Given the description of an element on the screen output the (x, y) to click on. 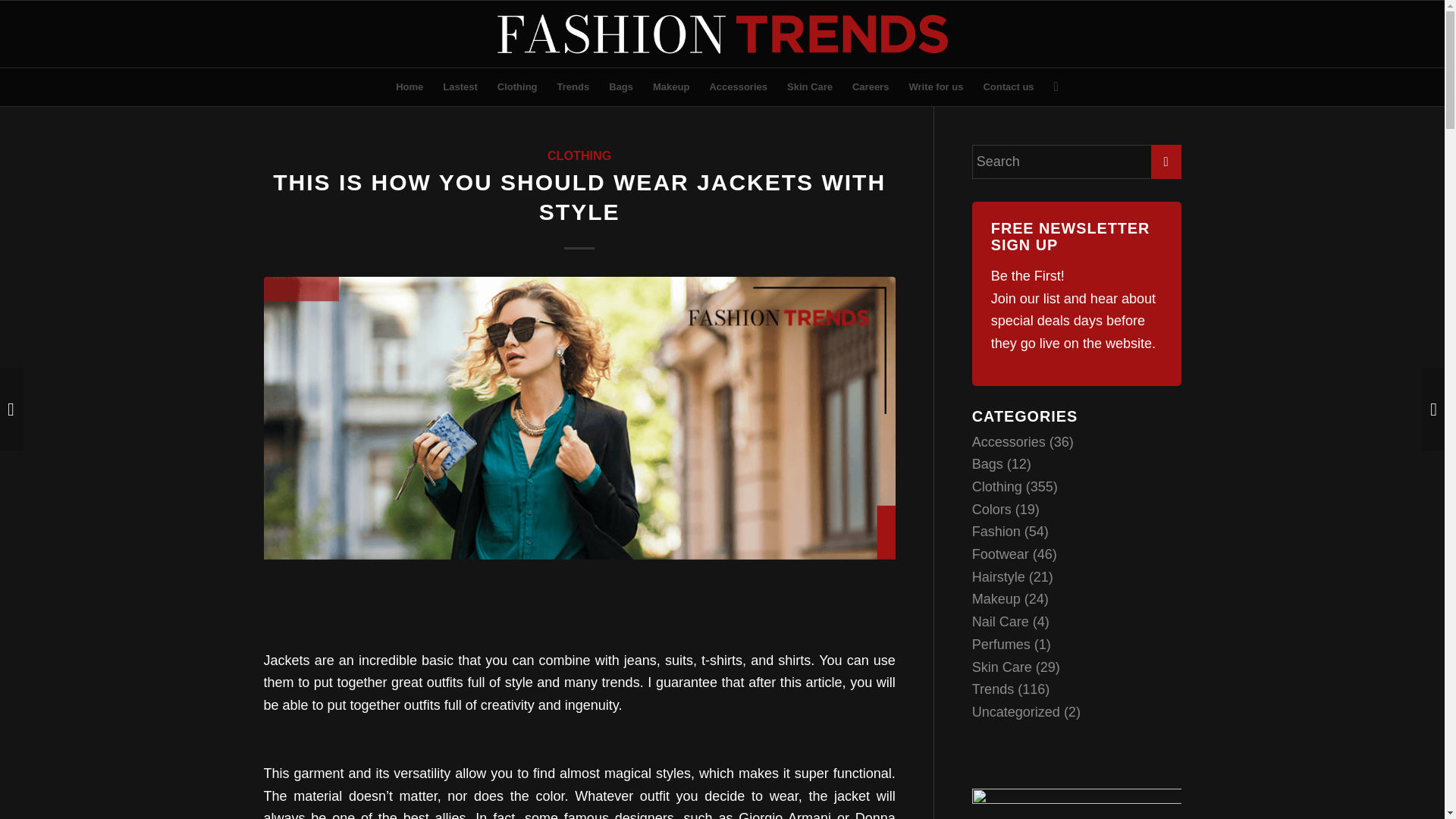
FashionTrends-Logo-Original-Negative-Horizontal-1 (722, 33)
Makeup (670, 86)
Bags (620, 86)
Trends (573, 86)
Home (408, 86)
Careers (870, 86)
Clothing (517, 86)
Contact us (1007, 86)
Accessories (737, 86)
